Given the description of an element on the screen output the (x, y) to click on. 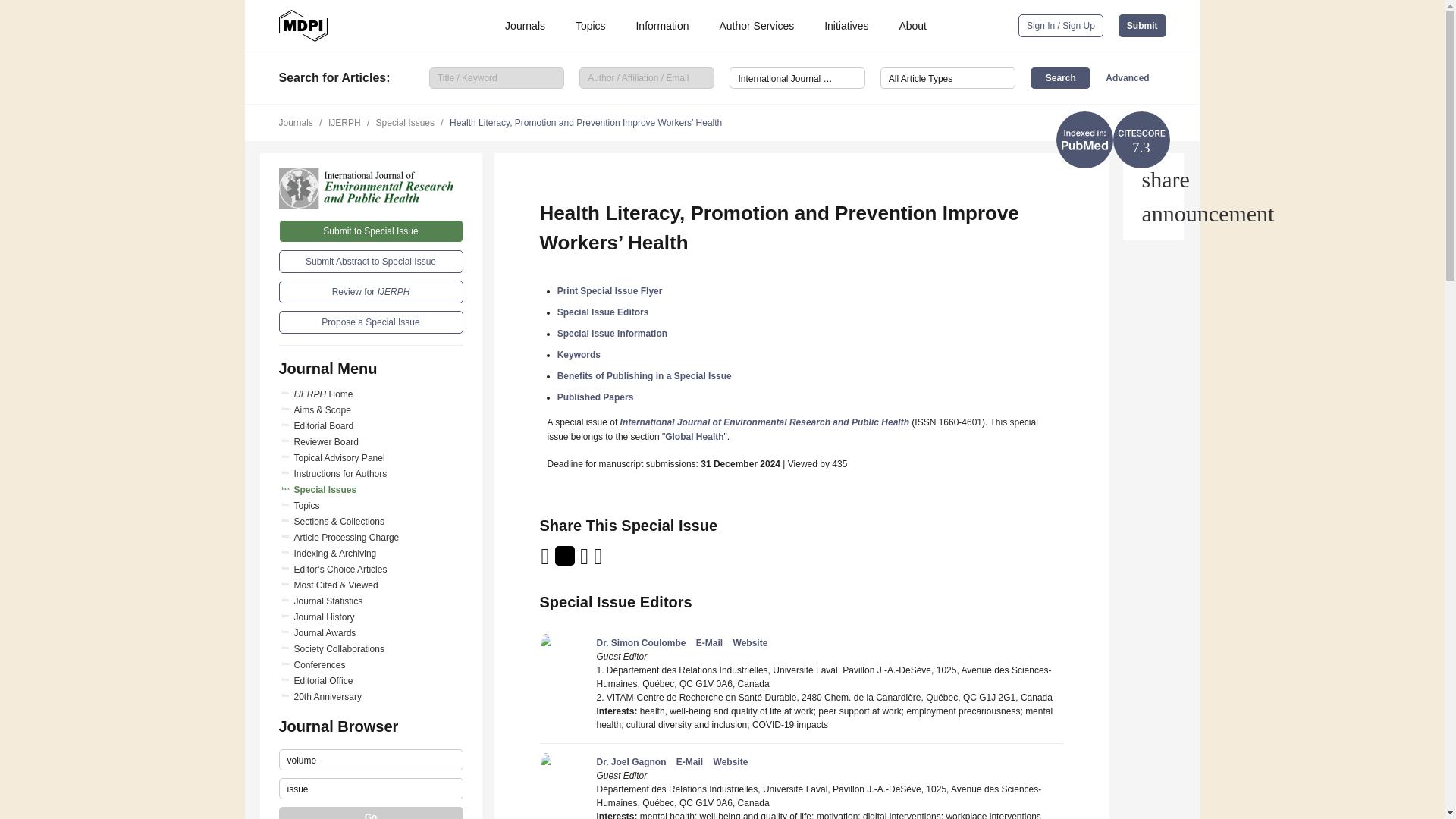
Help (1152, 213)
MDPI Open Access Journals (303, 25)
Share (1152, 179)
Search (1060, 77)
facebook (599, 561)
Search (1060, 77)
Twitter (565, 561)
LinkedIn (585, 561)
Wechat (617, 561)
